Given the description of an element on the screen output the (x, y) to click on. 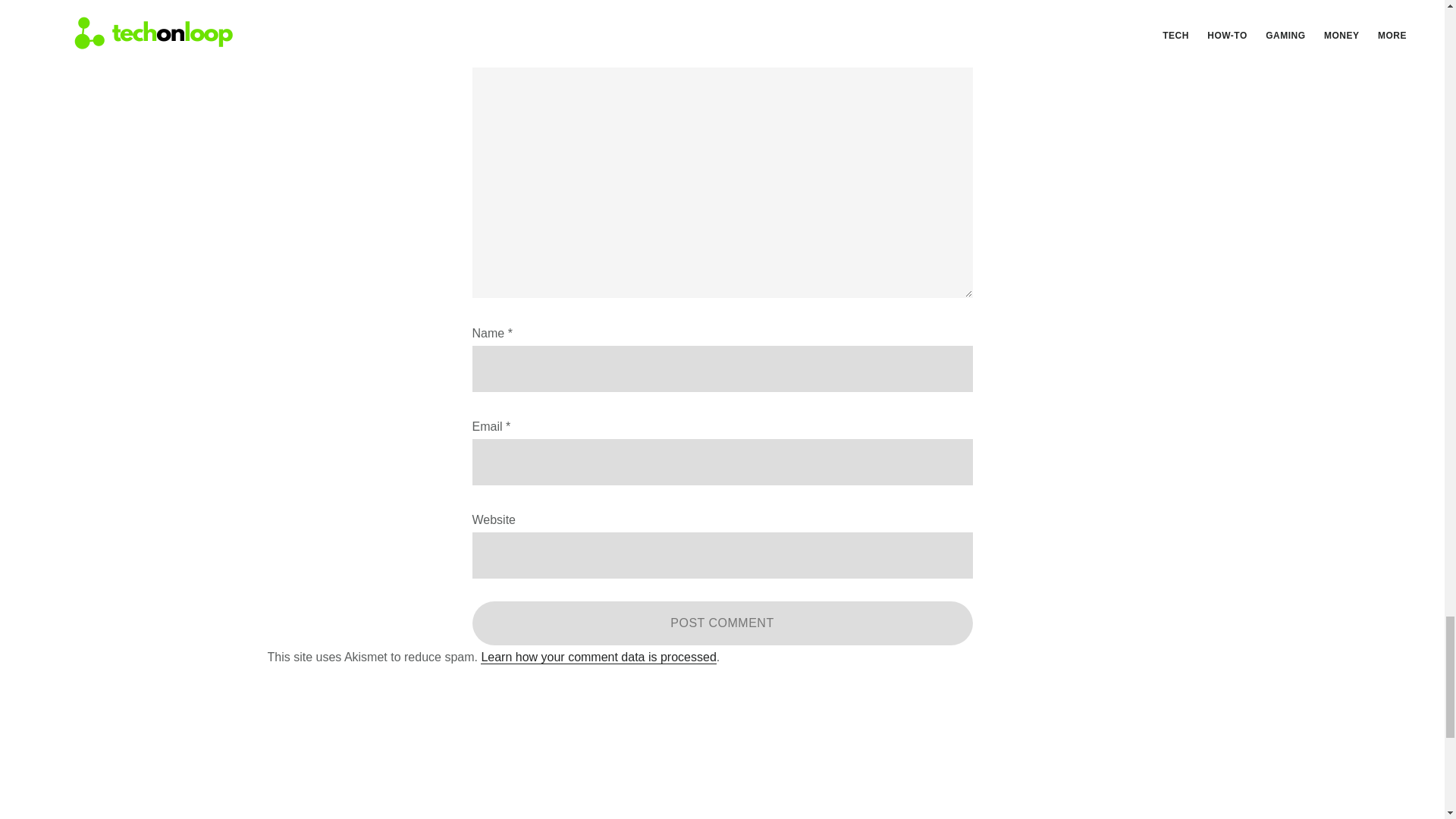
Learn how your comment data is processed (598, 657)
Post Comment (721, 623)
Post Comment (721, 623)
